Given the description of an element on the screen output the (x, y) to click on. 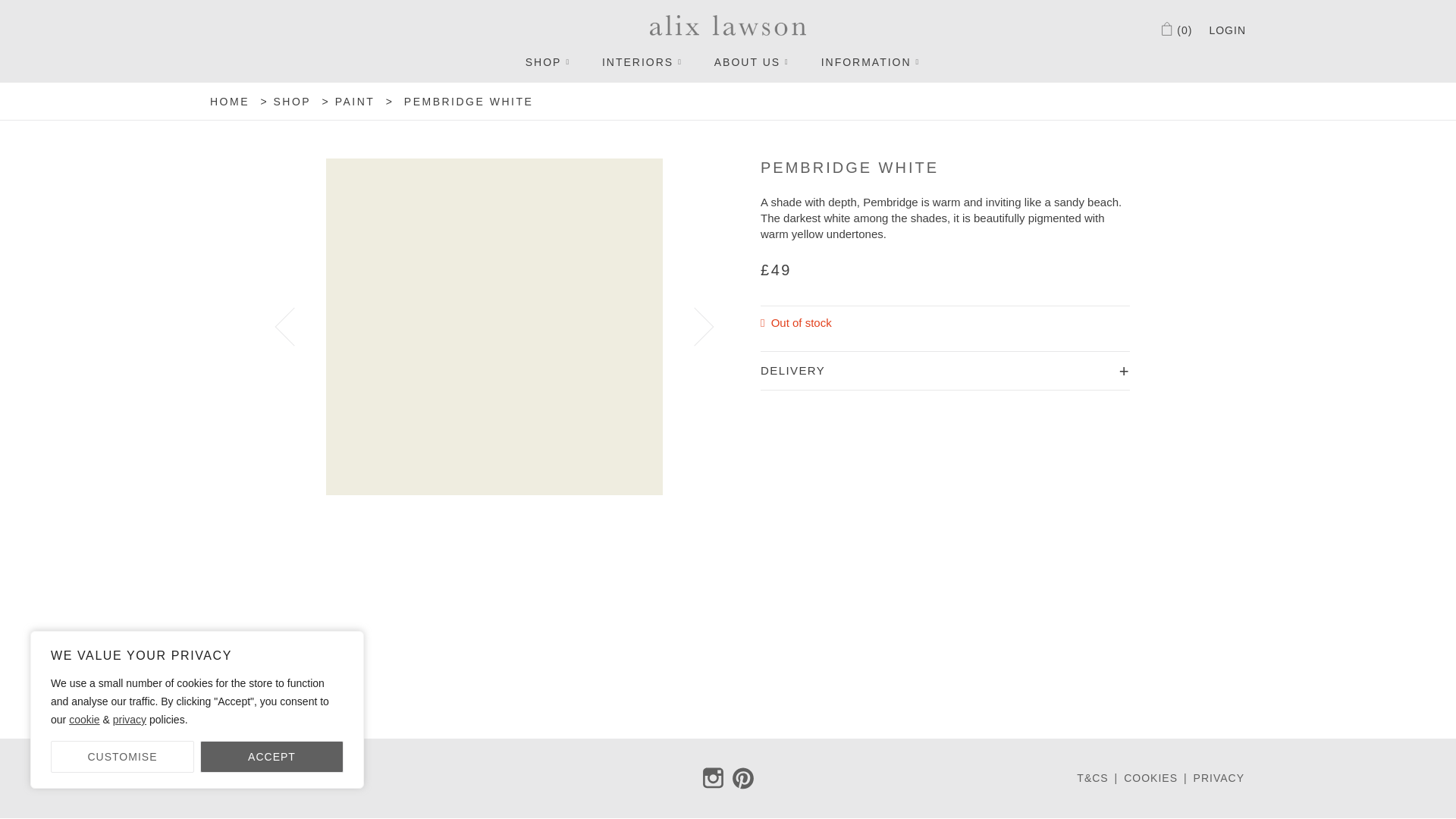
View your shopping basket (1176, 29)
Login (1227, 30)
privacy (130, 719)
CUSTOMISE (121, 757)
ACCEPT (271, 757)
LOGIN (1227, 30)
cookie (83, 719)
MODERN, MINIMAL HOMEWARE INSPIRED BY NATURE (727, 27)
